Given the description of an element on the screen output the (x, y) to click on. 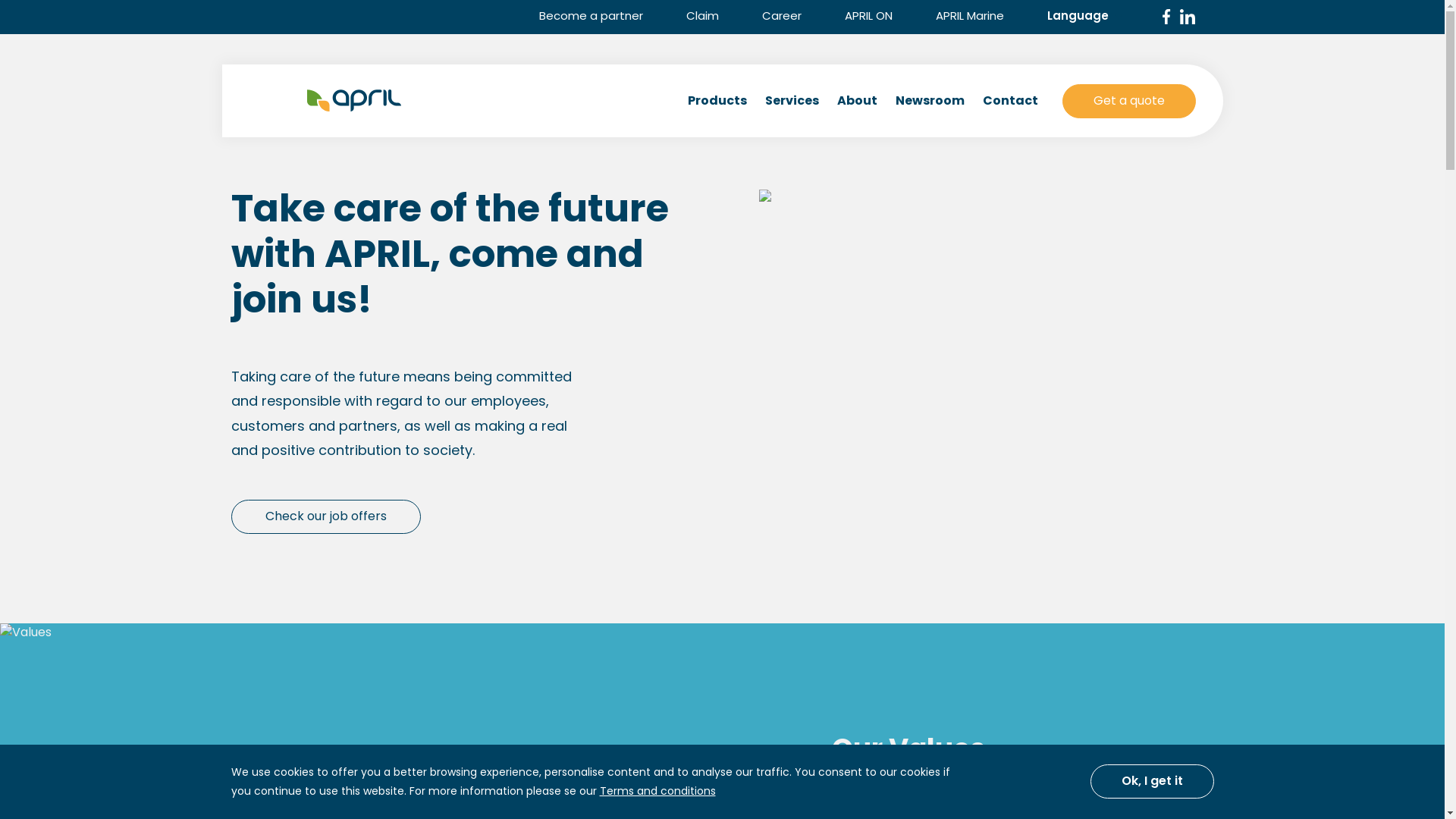
Become a partner Element type: text (590, 15)
APRIL ON Element type: text (868, 15)
Terms and conditions Element type: text (657, 790)
About Element type: text (857, 100)
Career Element type: text (780, 15)
Language Element type: text (1086, 15)
Newsroom Element type: text (928, 100)
APRIL Marine Element type: text (969, 15)
Ok, I get it Element type: text (1152, 781)
Get a quote Element type: text (1128, 100)
Claim Element type: text (701, 15)
Services Element type: text (791, 100)
Contact Element type: text (1010, 100)
Check our job offers Element type: text (325, 516)
Products Element type: text (716, 100)
